Given the description of an element on the screen output the (x, y) to click on. 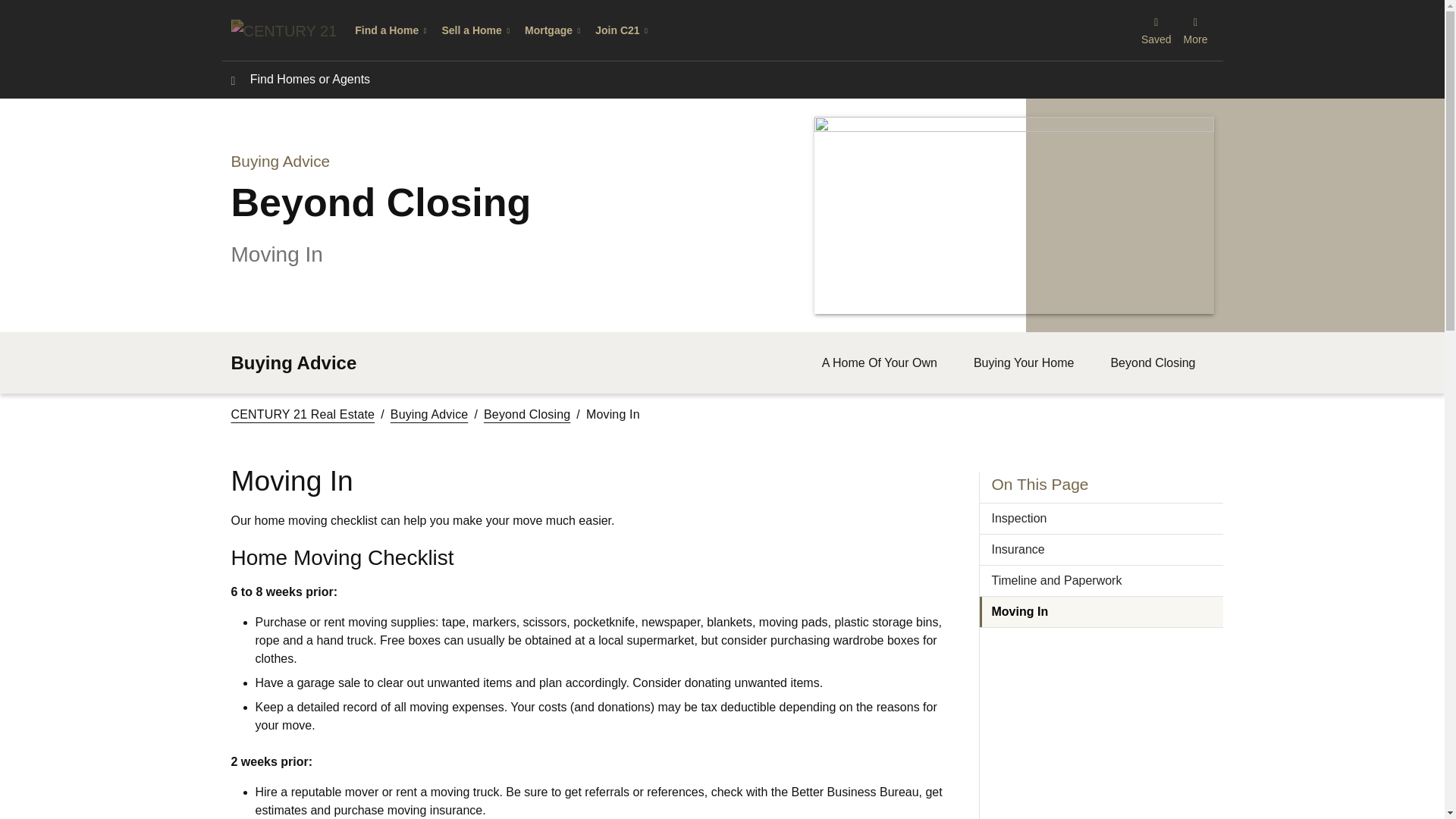
Sell a Home (476, 30)
Find a Home (392, 30)
Mortgage (553, 30)
Saved (1156, 30)
Join C21 (622, 30)
